Given the description of an element on the screen output the (x, y) to click on. 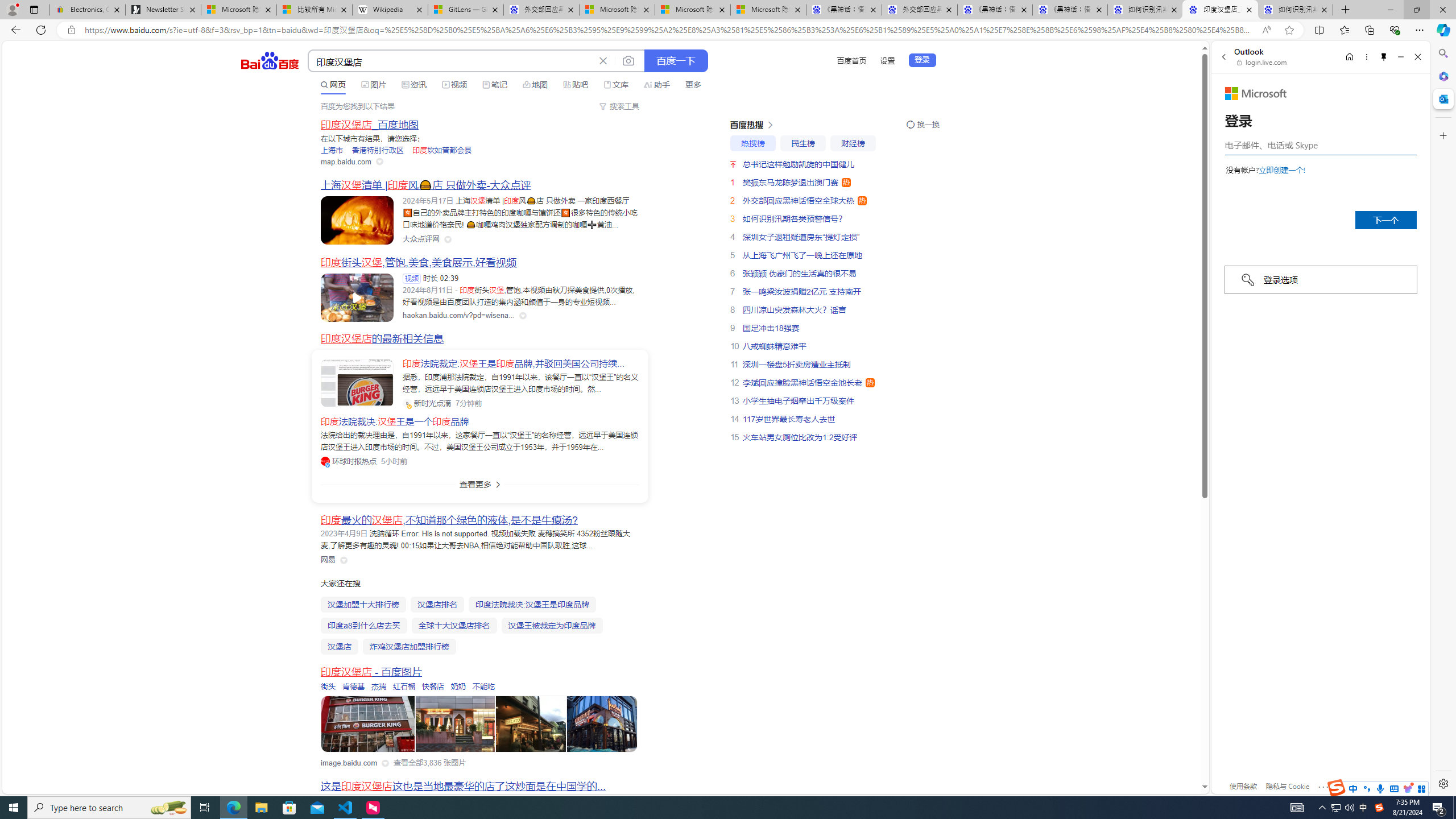
Address and search bar (669, 29)
